Given the description of an element on the screen output the (x, y) to click on. 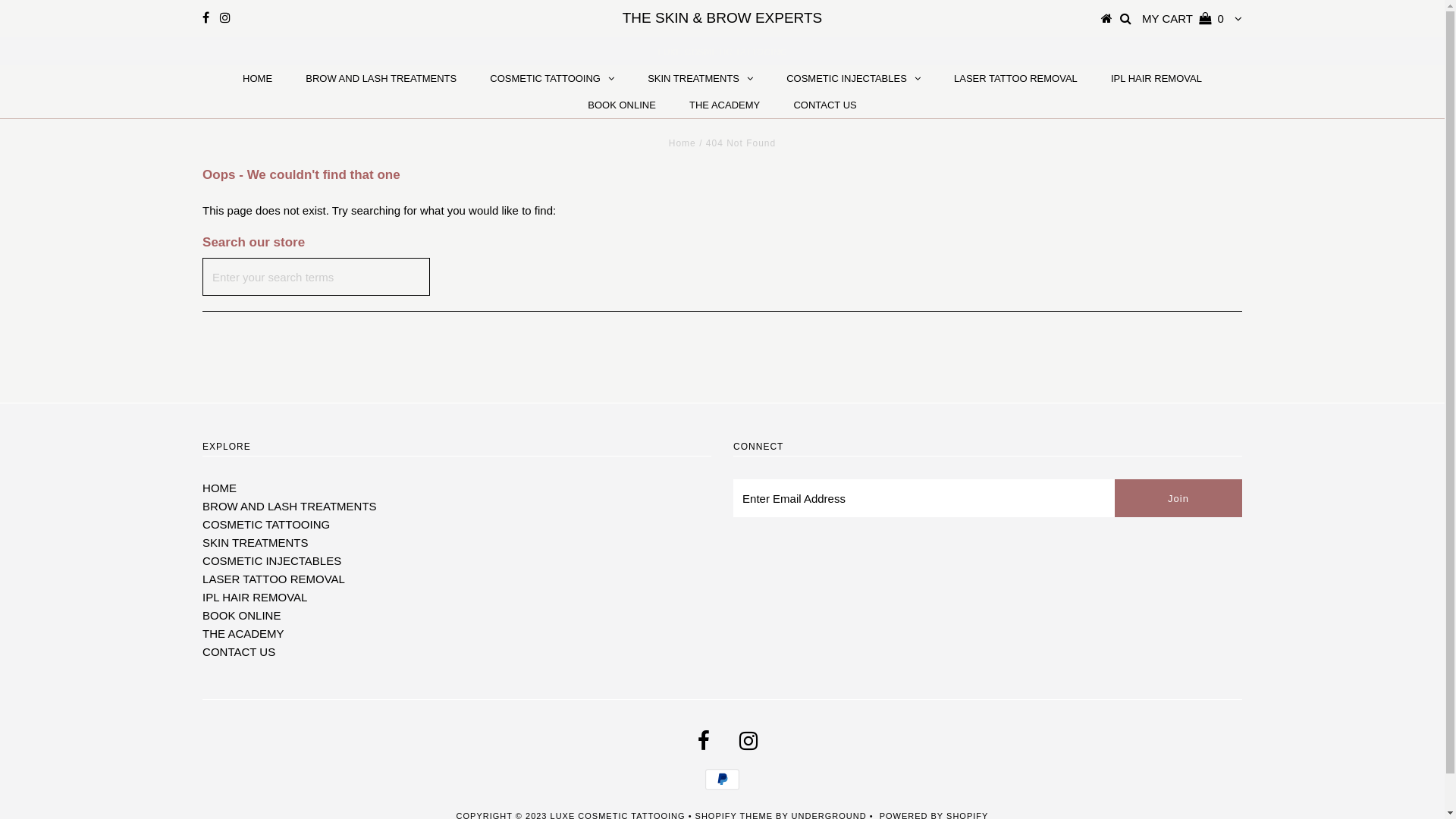
LUXE COSMETIC TATTOOING Element type: text (722, 52)
BROW AND LASH TREATMENTS Element type: text (289, 505)
CONTACT US Element type: text (238, 651)
BOOK ONLINE Element type: text (241, 614)
Join Element type: text (1178, 498)
THE ACADEMY Element type: text (243, 633)
SKIN TREATMENTS Element type: text (254, 542)
COSMETIC INJECTABLES Element type: text (853, 78)
CONTACT US Element type: text (824, 104)
IPL HAIR REMOVAL Element type: text (254, 596)
LASER TATTOO REMOVAL Element type: text (1015, 78)
THE ACADEMY Element type: text (724, 104)
IPL HAIR REMOVAL Element type: text (1156, 78)
SKIN TREATMENTS Element type: text (700, 78)
BROW AND LASH TREATMENTS Element type: text (380, 78)
HOME Element type: text (257, 78)
Home Element type: text (682, 143)
COSMETIC TATTOOING Element type: text (551, 78)
LASER TATTOO REMOVAL Element type: text (273, 578)
BOOK ONLINE Element type: text (621, 104)
MY CART    0 Element type: text (1182, 18)
COSMETIC TATTOOING Element type: text (265, 523)
HOME Element type: text (219, 487)
COSMETIC INJECTABLES Element type: text (271, 560)
